Given the description of an element on the screen output the (x, y) to click on. 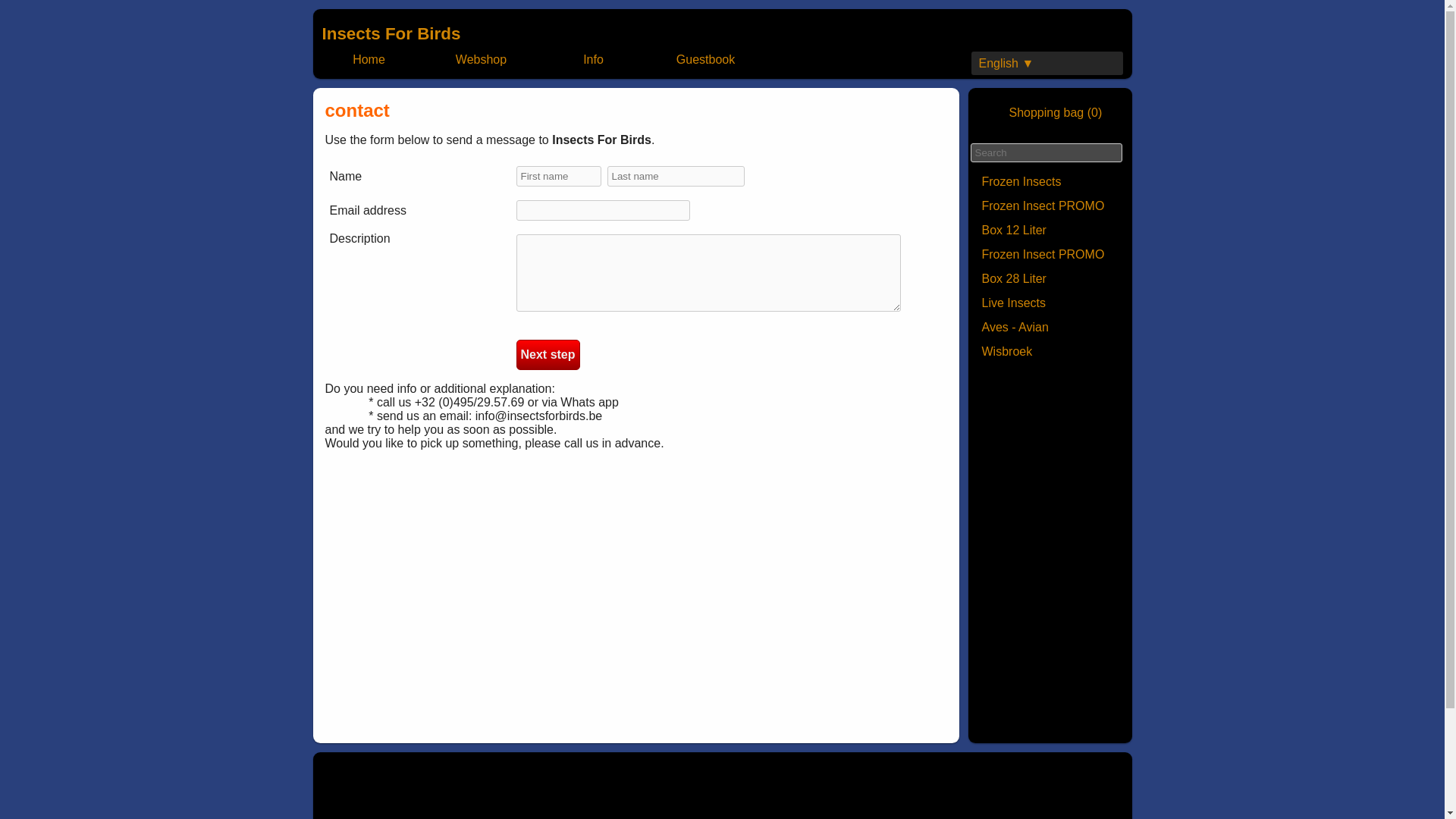
Frozen Insect PROMO Box 12 Liter (1050, 218)
Next step (547, 354)
Webshop (481, 59)
Home (369, 59)
Wisbroek (1050, 351)
Insects For Birds (390, 33)
Live Insects (1050, 303)
Guestbook (705, 59)
Next step (547, 354)
Aves - Avian (1050, 327)
